Given the description of an element on the screen output the (x, y) to click on. 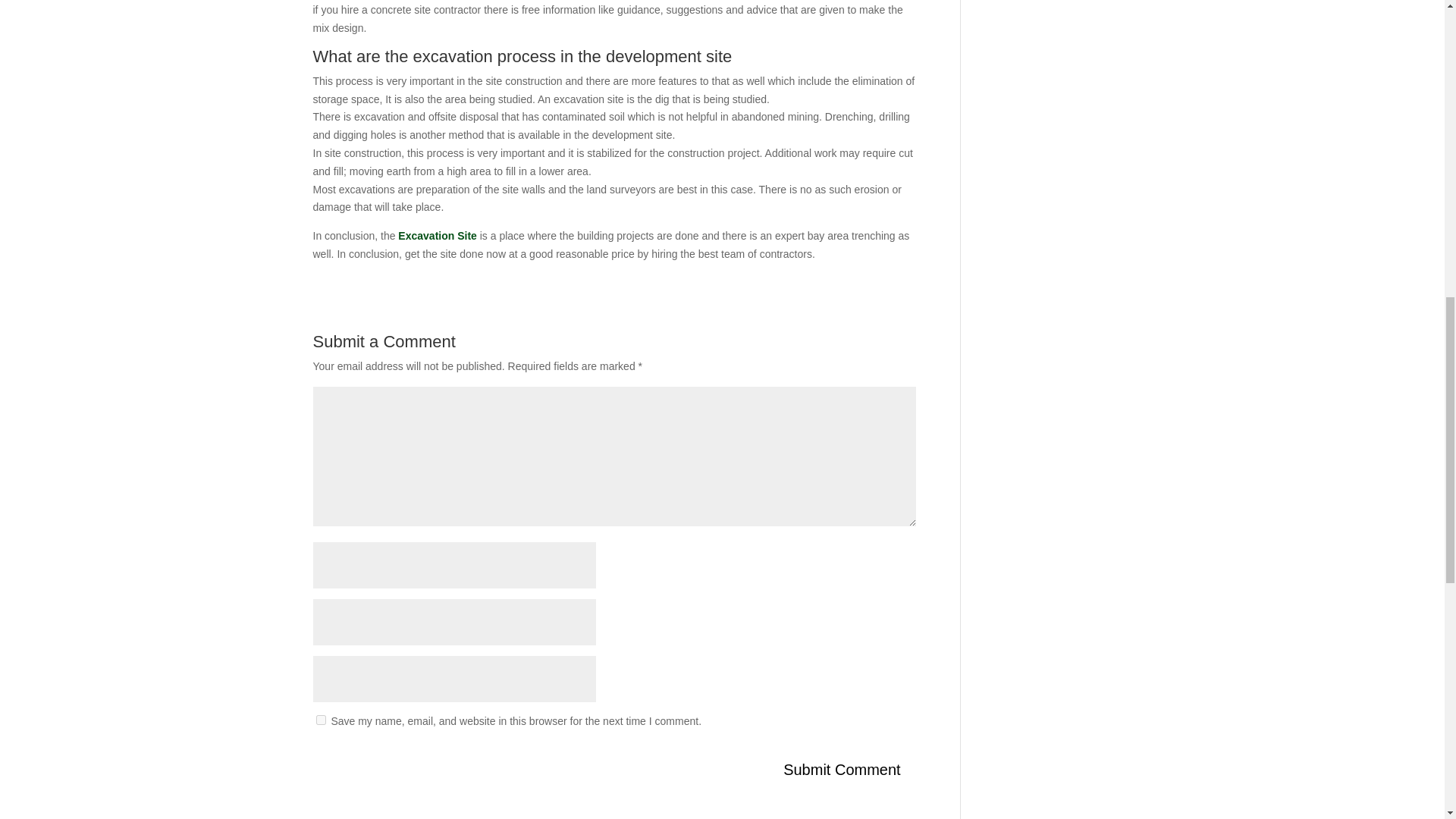
Excavation Site (437, 235)
Submit Comment (841, 769)
yes (319, 719)
Submit Comment (841, 769)
